Given the description of an element on the screen output the (x, y) to click on. 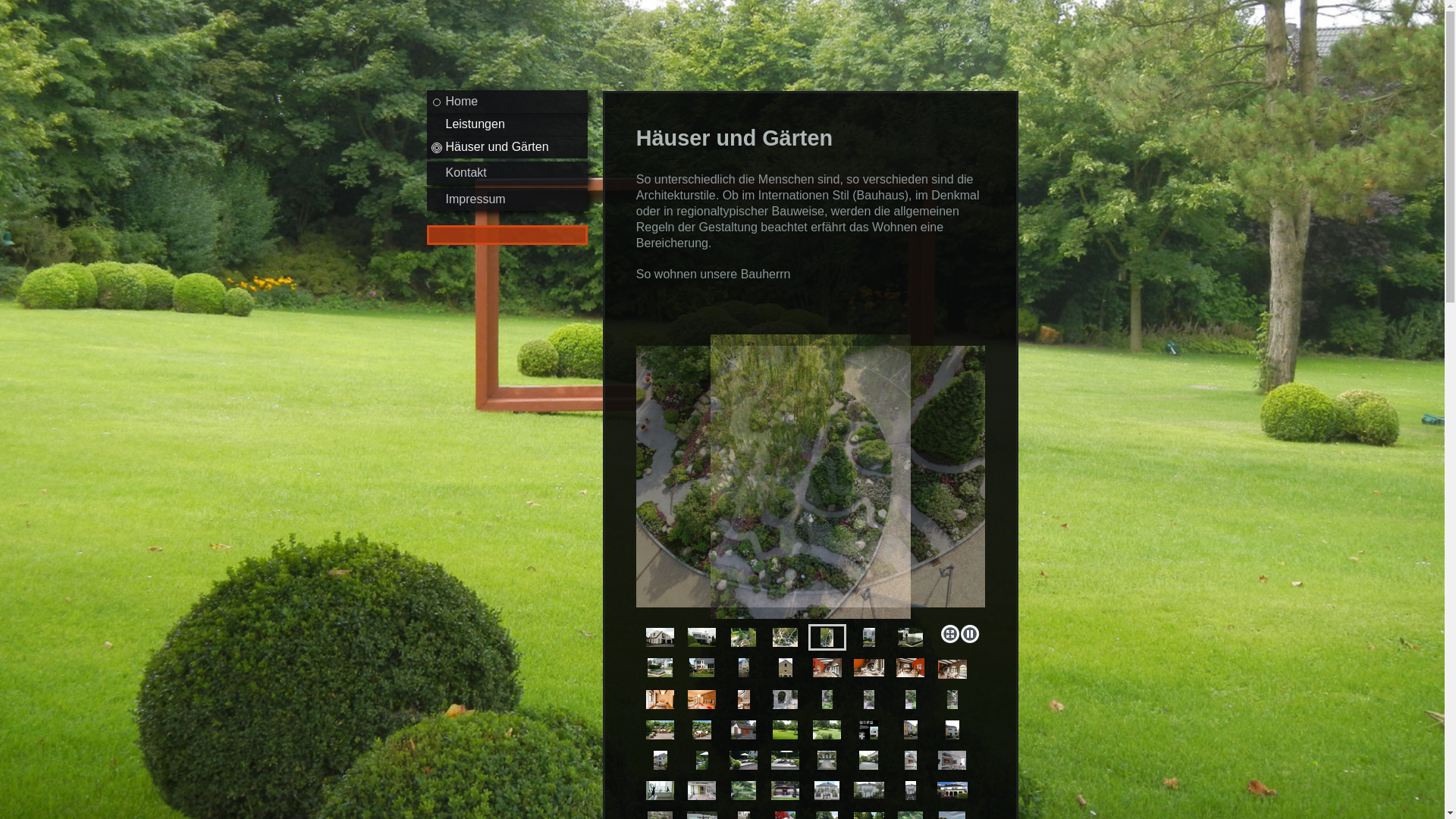
Kontakt Element type: text (506, 173)
einer Gelassenheit Ausdruck gebend, Element type: hover (910, 667)
multifunktional, Element type: hover (868, 759)
dekorativ, Element type: hover (660, 729)
mit einem Hang zur Klassik Element type: hover (826, 790)
im modern interpretieren Art and Craft Stil Element type: hover (743, 729)
zwischen Steinen... Element type: hover (784, 699)
farbharmonisch, Element type: hover (910, 759)
...die dem Ort angemessen ist. Element type: hover (952, 668)
am Wasser... Element type: hover (743, 667)
im Pavillion denierend, Element type: hover (785, 790)
 und internationalem Interieur,.. Element type: hover (868, 667)
Impressum Element type: text (506, 199)
...und Pflanzen, Element type: hover (826, 636)
...im Denkmal.. Element type: hover (785, 667)
den eigenen Stil bewahrend, Element type: hover (952, 729)
mit Leichtigkeit,  Element type: hover (826, 667)
auf das wesentliche reduziert, Element type: hover (743, 759)
...die Kunst integrierend, Element type: hover (701, 790)
...mit Humor Element type: hover (743, 699)
...bunt,.... Element type: hover (868, 636)
einfach funktionel, Element type: hover (868, 699)
expressiv,... Element type: hover (660, 636)
gelassen, verwunschen, Element type: hover (743, 790)
Leistungen Element type: text (506, 124)
mit Wasser als Naturpool... Element type: hover (659, 667)
authentisch... Element type: hover (701, 699)
durchgestylt... Element type: hover (952, 759)
...oder Teich,.. Element type: hover (701, 667)
 ---und offen zur Gartenlandschaft,    Element type: hover (701, 636)
Home Element type: text (506, 101)
romantisch, Element type: hover (827, 699)
stilvoll, Element type: hover (826, 759)
inszeniert mit einer "kraftvollen" Bepflanzung, Element type: hover (826, 729)
nah an Pflanzen und Steinen, Element type: hover (701, 729)
geschmackvoll, Element type: hover (785, 759)
bis ins Detail, Element type: hover (660, 790)
modern, Element type: hover (868, 729)
